Given the description of an element on the screen output the (x, y) to click on. 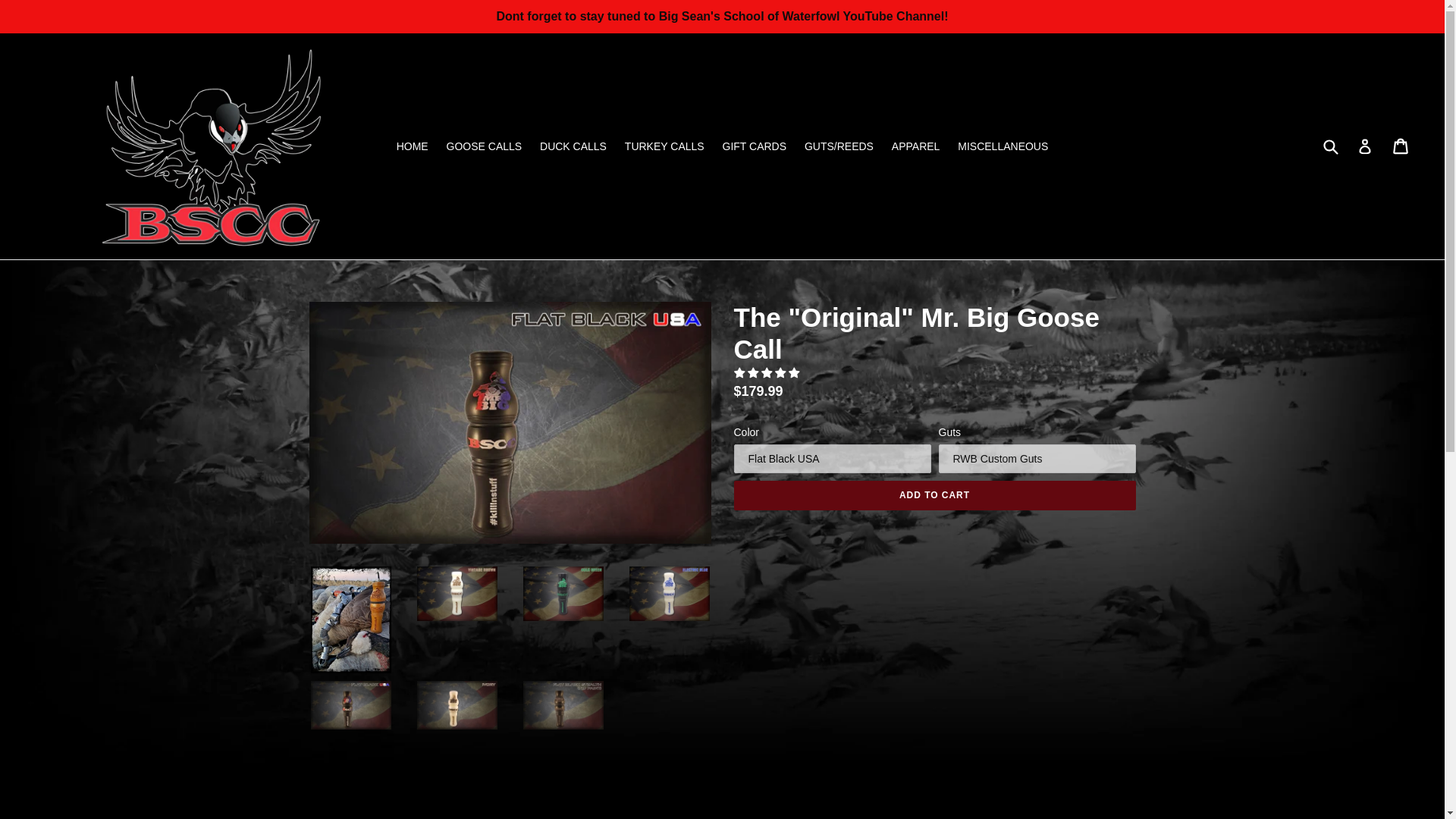
GIFT CARDS (754, 146)
APPAREL (915, 146)
GOOSE CALLS (484, 146)
DUCK CALLS (573, 146)
HOME (411, 146)
ADD TO CART (934, 495)
TURKEY CALLS (664, 146)
MISCELLANEOUS (1002, 146)
